Given the description of an element on the screen output the (x, y) to click on. 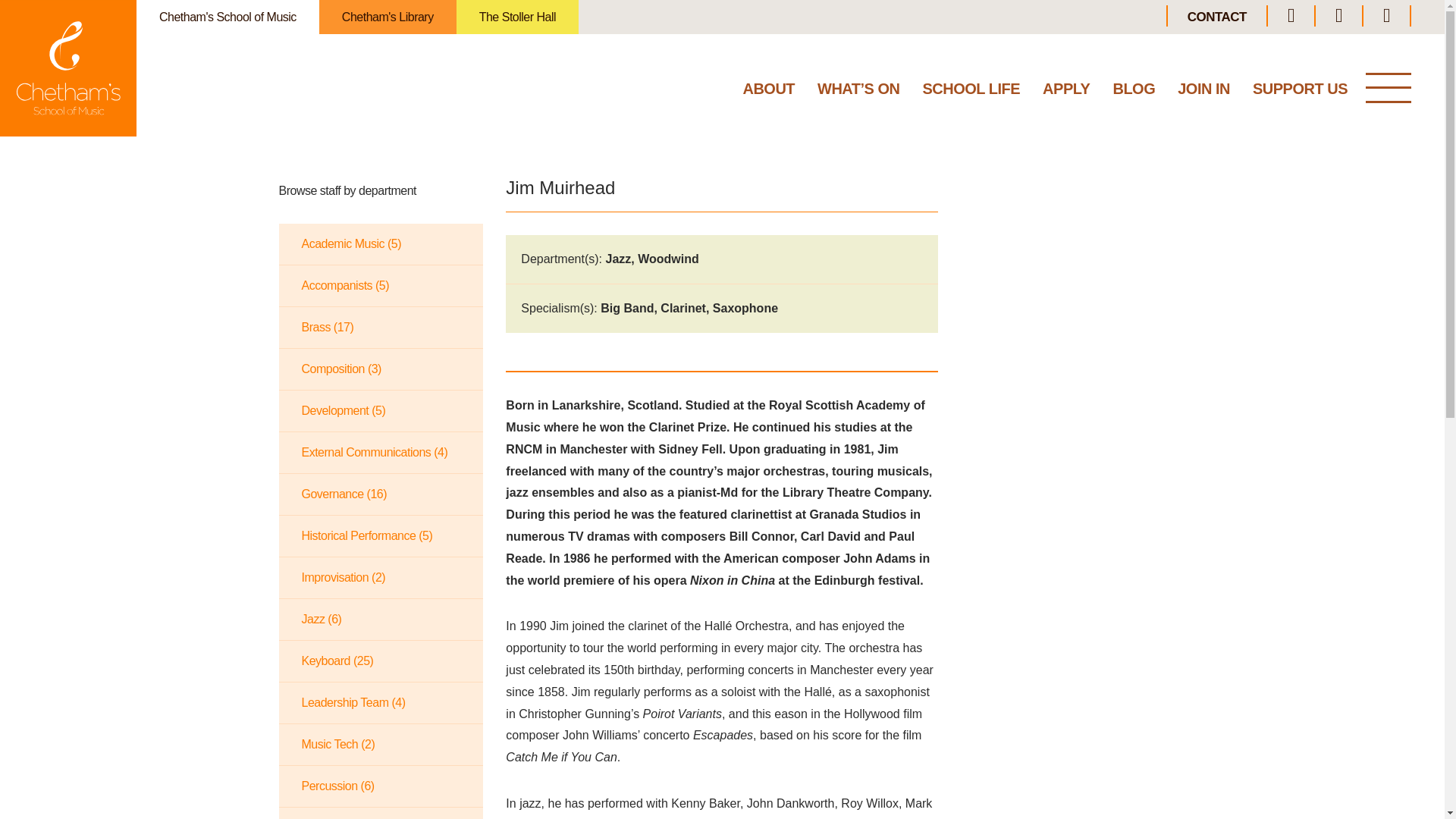
Chetham's School of Music (227, 16)
CONTACT (1217, 16)
Chetham's Library (387, 16)
Chetham's School of Music (68, 68)
The Stoller Hall (517, 16)
SCHOOL LIFE (970, 91)
ABOUT (768, 91)
